Given the description of an element on the screen output the (x, y) to click on. 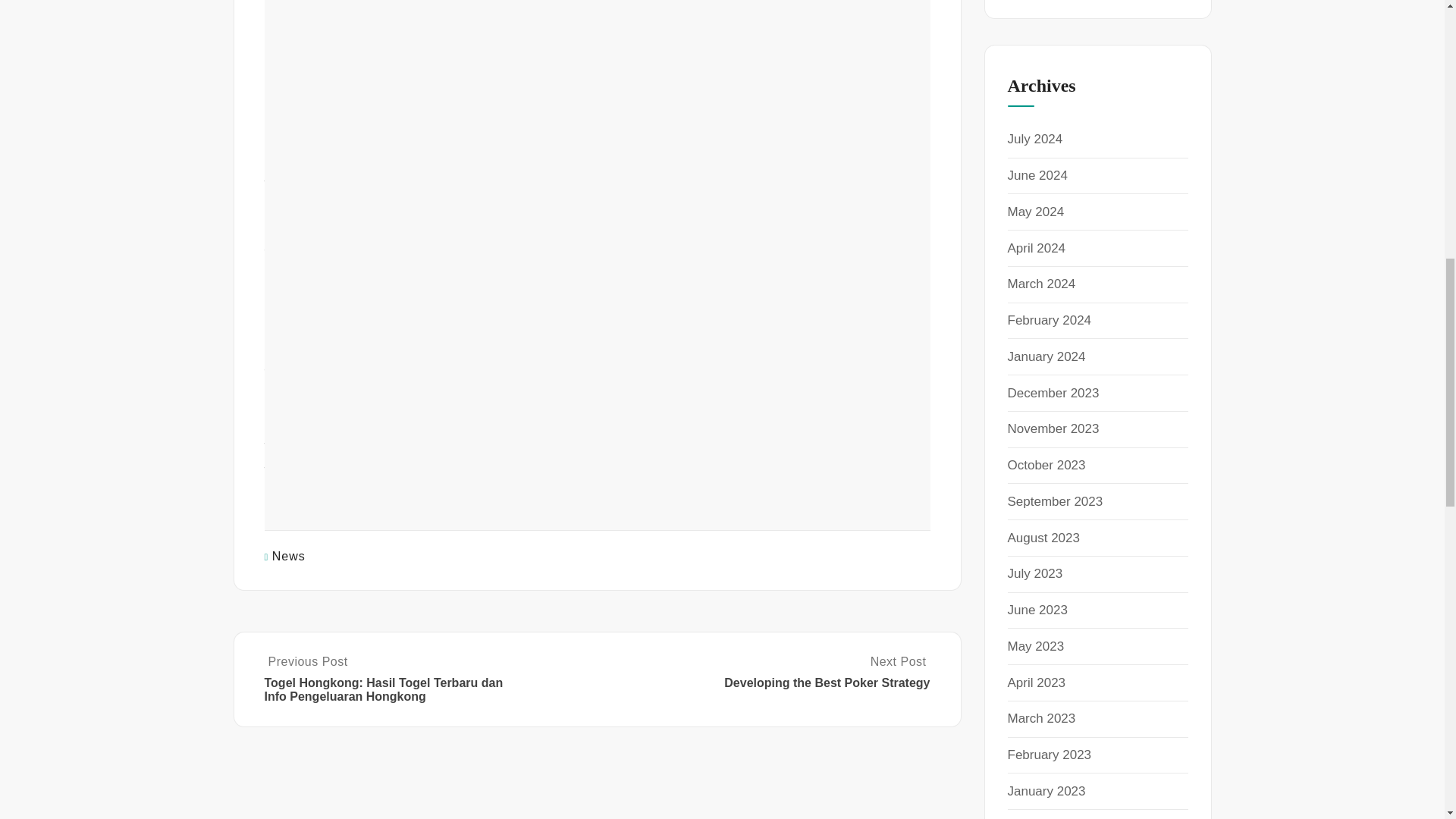
News (288, 555)
July 2024 (1034, 138)
June 2024 (1037, 175)
October 2023 (1045, 464)
May 2023 (1035, 646)
February 2023 (1048, 754)
August 2023 (1042, 537)
April 2024 (1036, 247)
June 2023 (1037, 609)
July 2023 (1034, 573)
May 2024 (1035, 211)
September 2023 (1054, 501)
December 2023 (1053, 392)
